Given the description of an element on the screen output the (x, y) to click on. 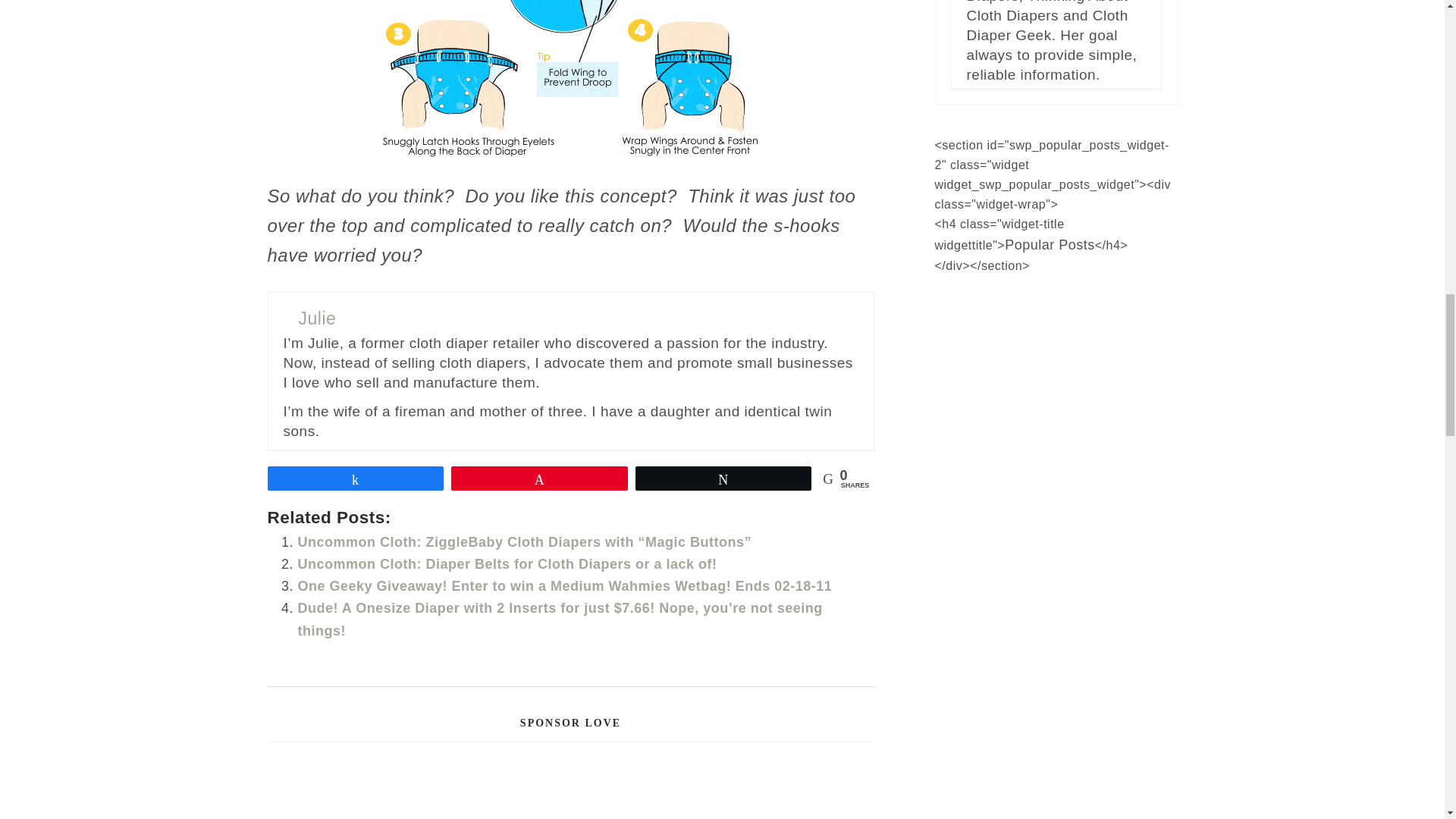
Uncommon Cloth: Diaper Belts for Cloth Diapers or a lack of! (506, 563)
Sponsor Love (569, 788)
Julie (317, 318)
